Given the description of an element on the screen output the (x, y) to click on. 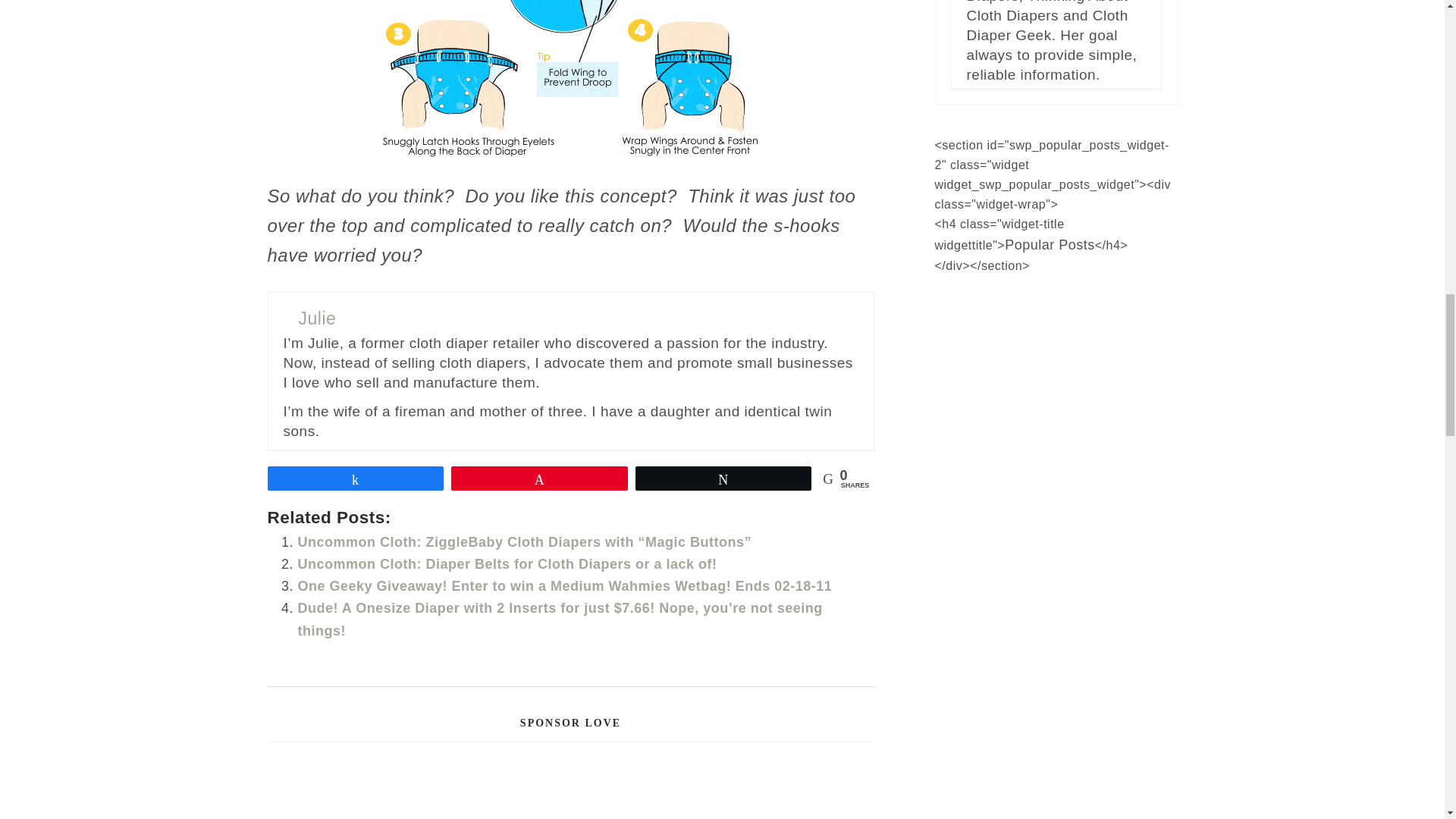
Uncommon Cloth: Diaper Belts for Cloth Diapers or a lack of! (506, 563)
Sponsor Love (569, 788)
Julie (317, 318)
